Given the description of an element on the screen output the (x, y) to click on. 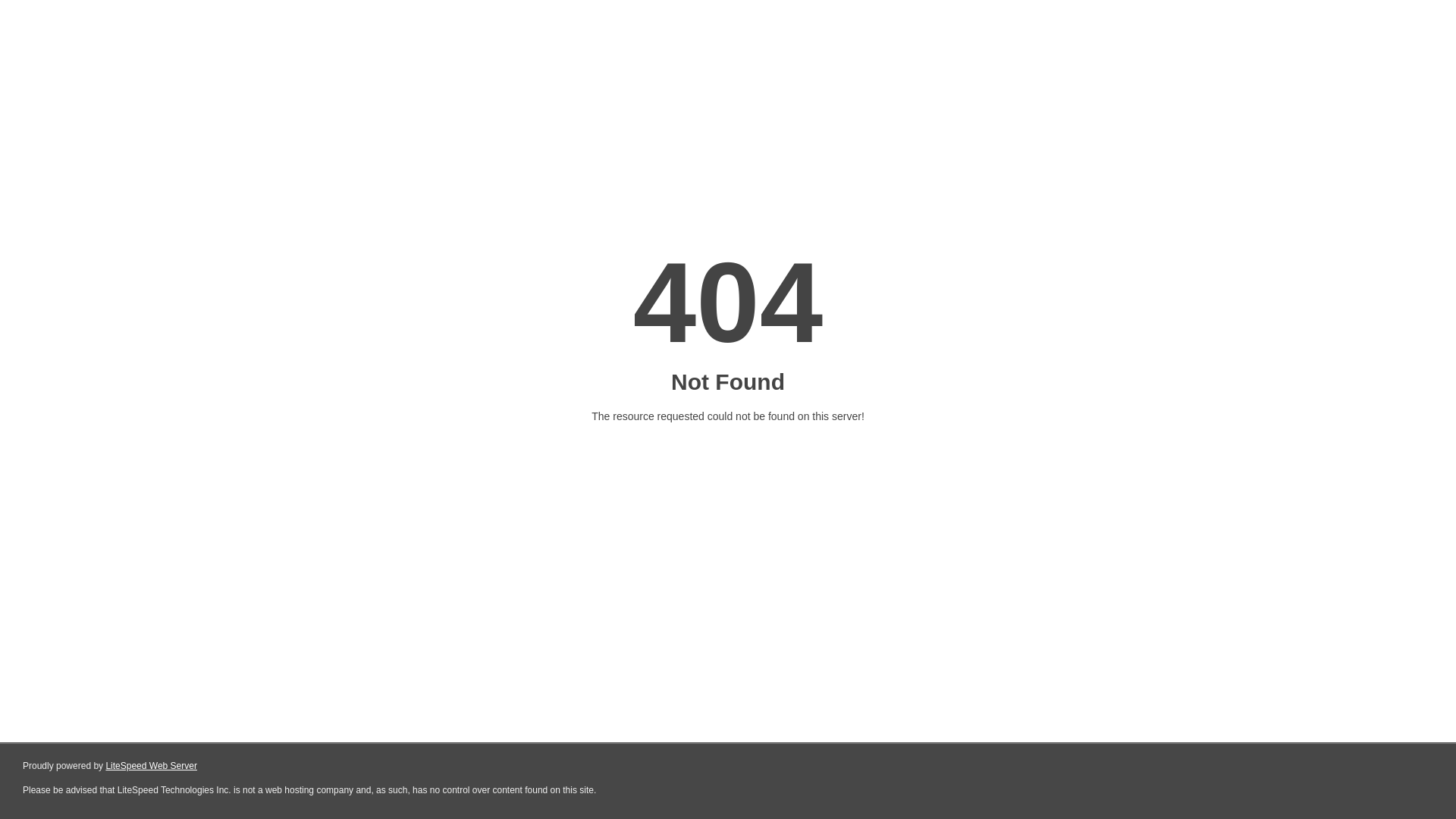
LiteSpeed Web Server Element type: text (151, 765)
